Given the description of an element on the screen output the (x, y) to click on. 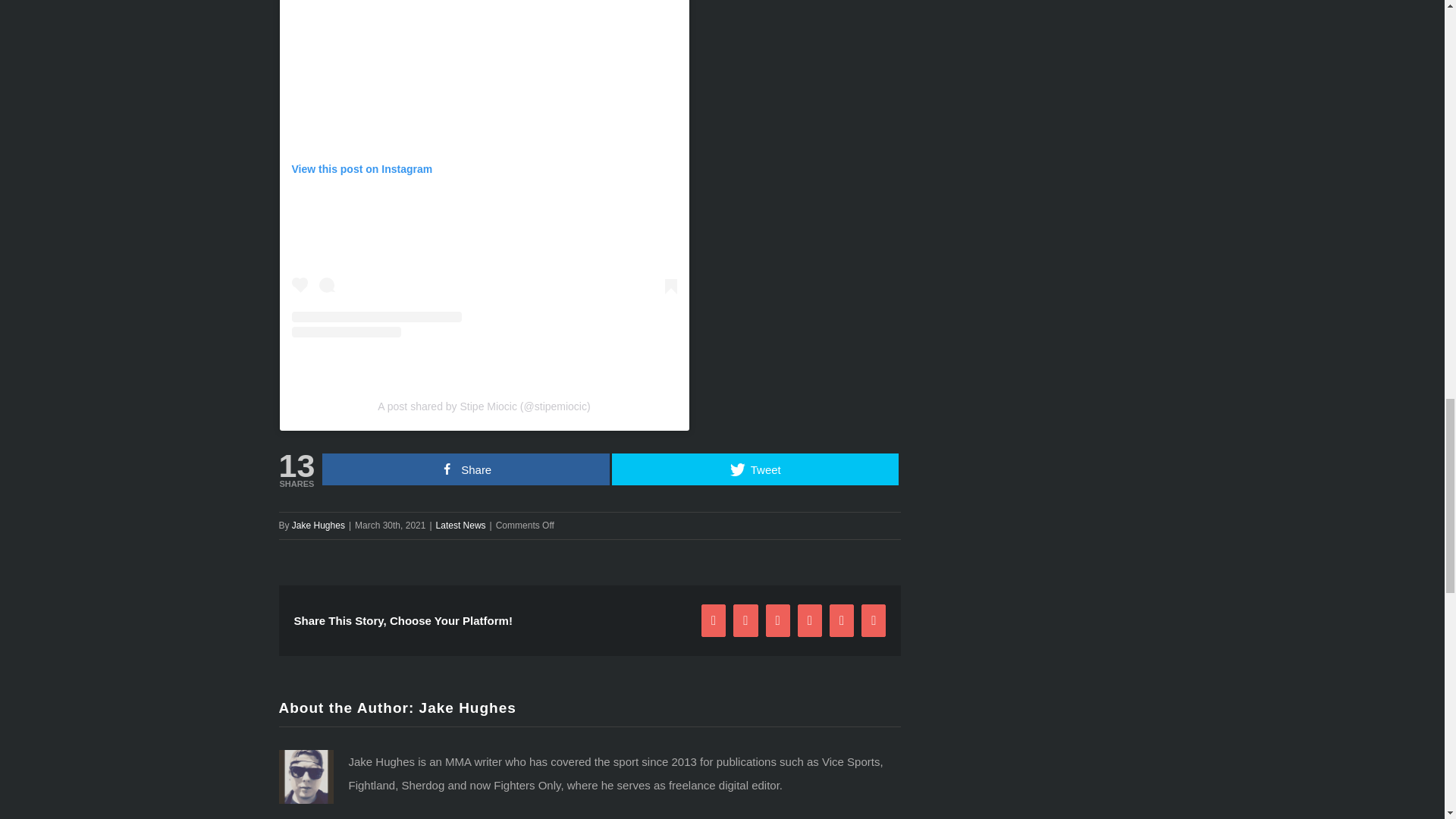
Latest News (460, 525)
Jake Hughes (467, 707)
Posts by Jake Hughes (318, 525)
Tweet (755, 469)
Jake Hughes (318, 525)
Posts by Jake Hughes (467, 707)
Share (465, 469)
